Given the description of an element on the screen output the (x, y) to click on. 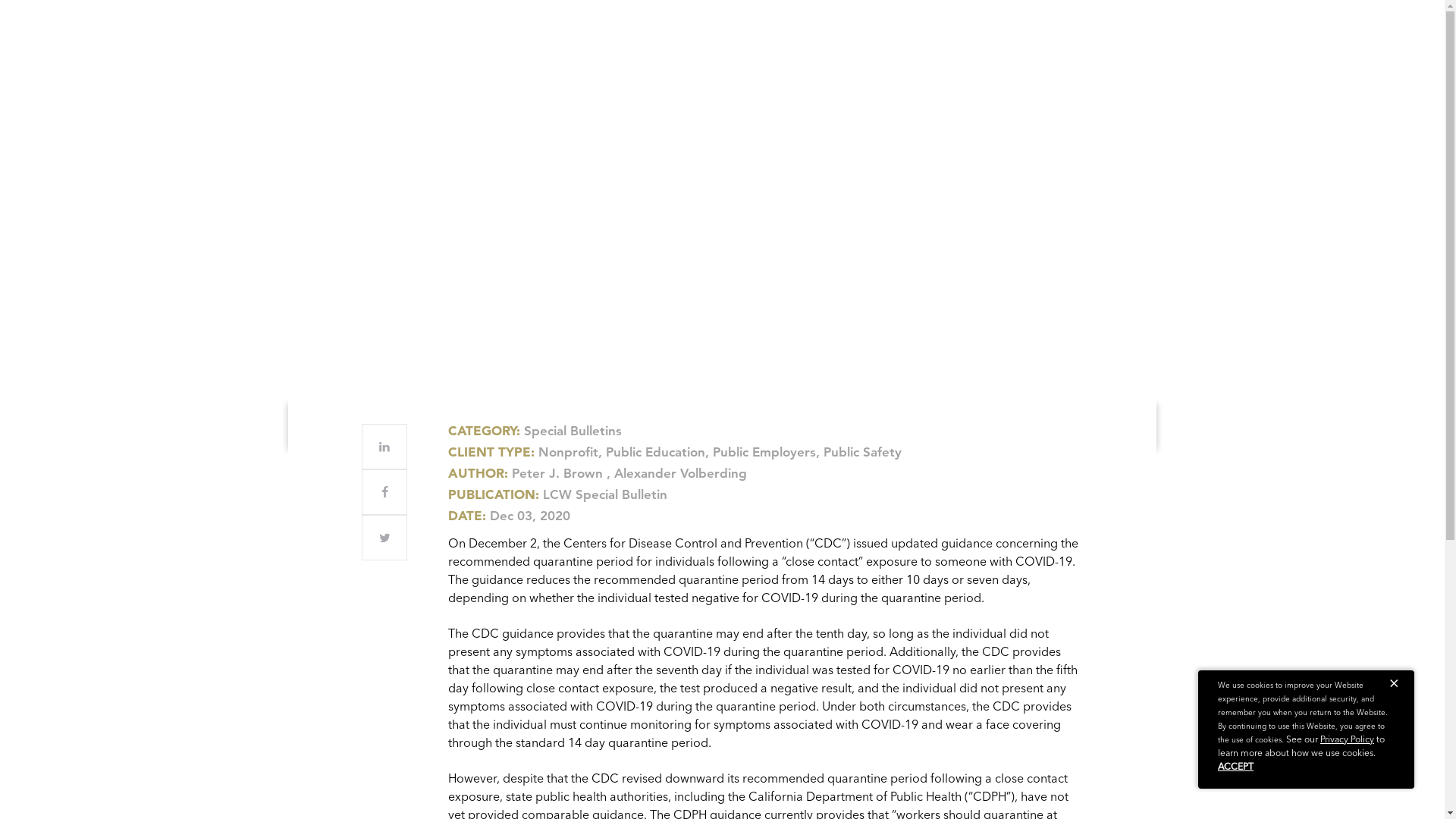
ACCEPT (1235, 766)
Alexander Volberding (680, 473)
Peter J. Brown (557, 473)
Privacy Policy (1347, 738)
